Given the description of an element on the screen output the (x, y) to click on. 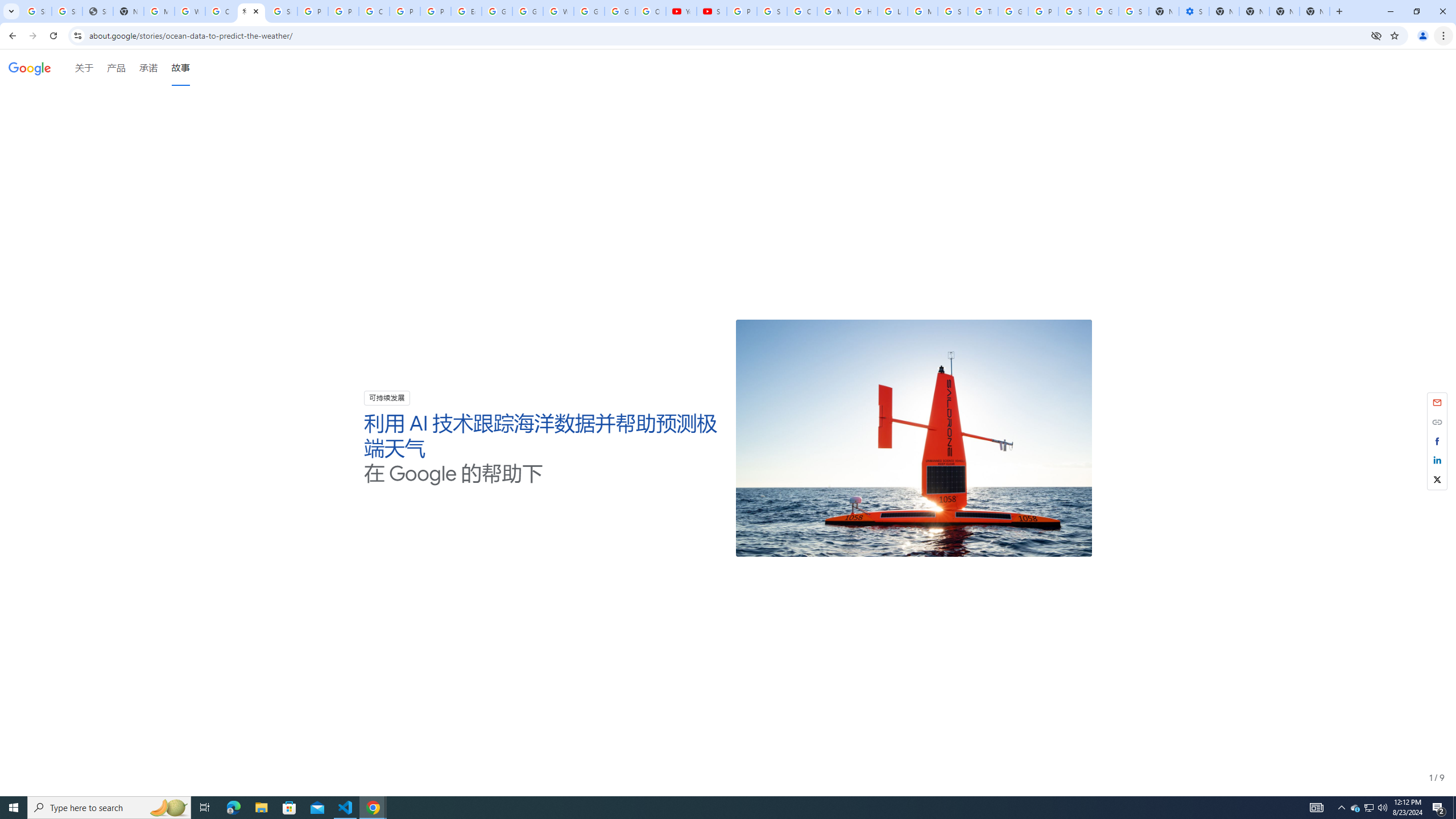
Edit and view right-to-left text - Google Docs Editors Help (465, 11)
Sign in - Google Accounts (1072, 11)
Google Cybersecurity Innovations - Google Safety Center (1103, 11)
